Given the description of an element on the screen output the (x, y) to click on. 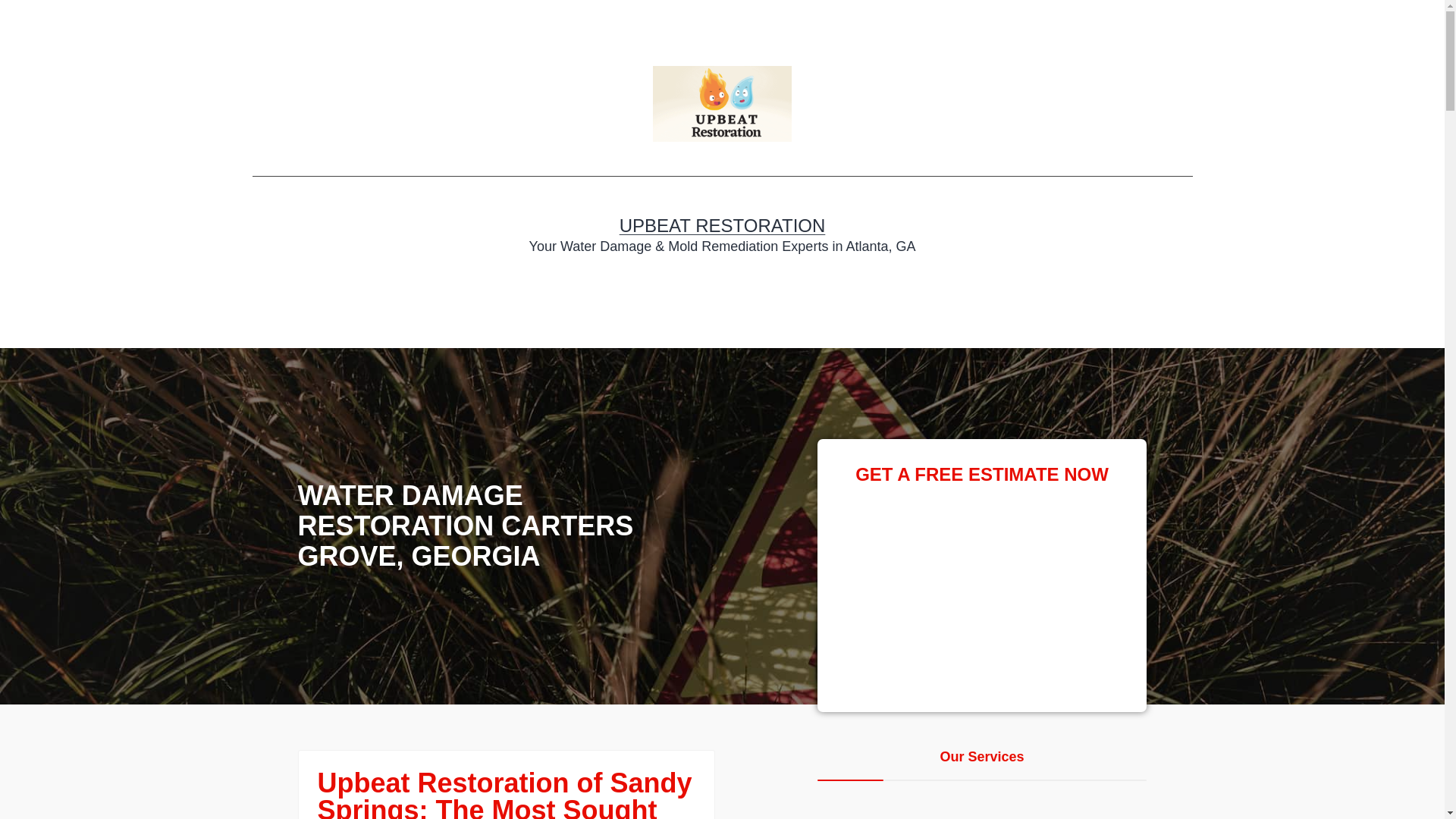
UPBEAT RESTORATION (722, 225)
